Given the description of an element on the screen output the (x, y) to click on. 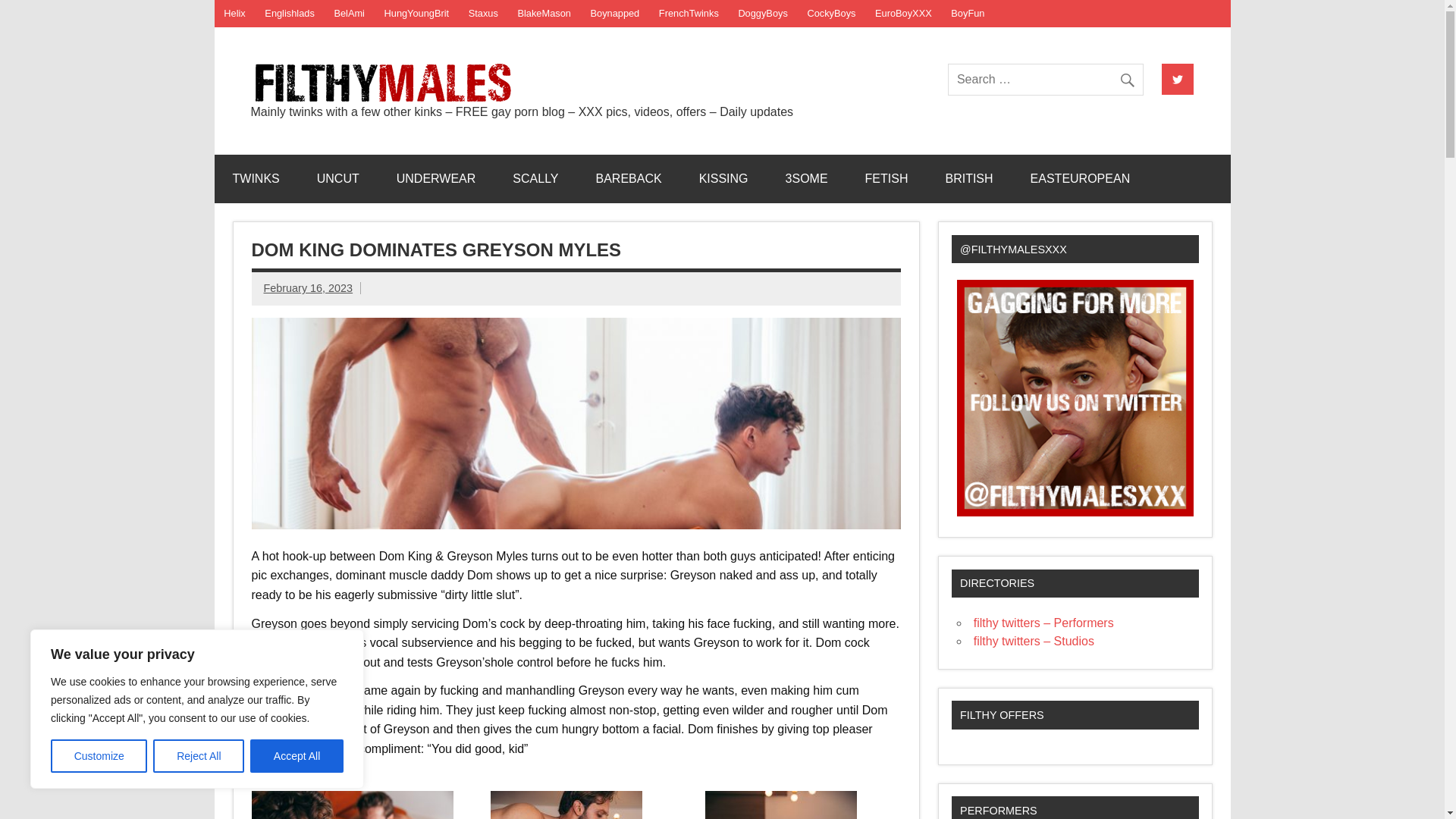
CockyBoys (831, 13)
SCALLY (535, 178)
Boynapped (614, 13)
HungYoungBrit (416, 13)
filthymales (613, 78)
Accept All (296, 756)
Reject All (198, 756)
BlakeMason (544, 13)
TWINKS (255, 178)
Customize (98, 756)
BAREBACK (628, 178)
FrenchTwinks (689, 13)
BoyFun (968, 13)
DoggyBoys (763, 13)
UNDERWEAR (436, 178)
